Given the description of an element on the screen output the (x, y) to click on. 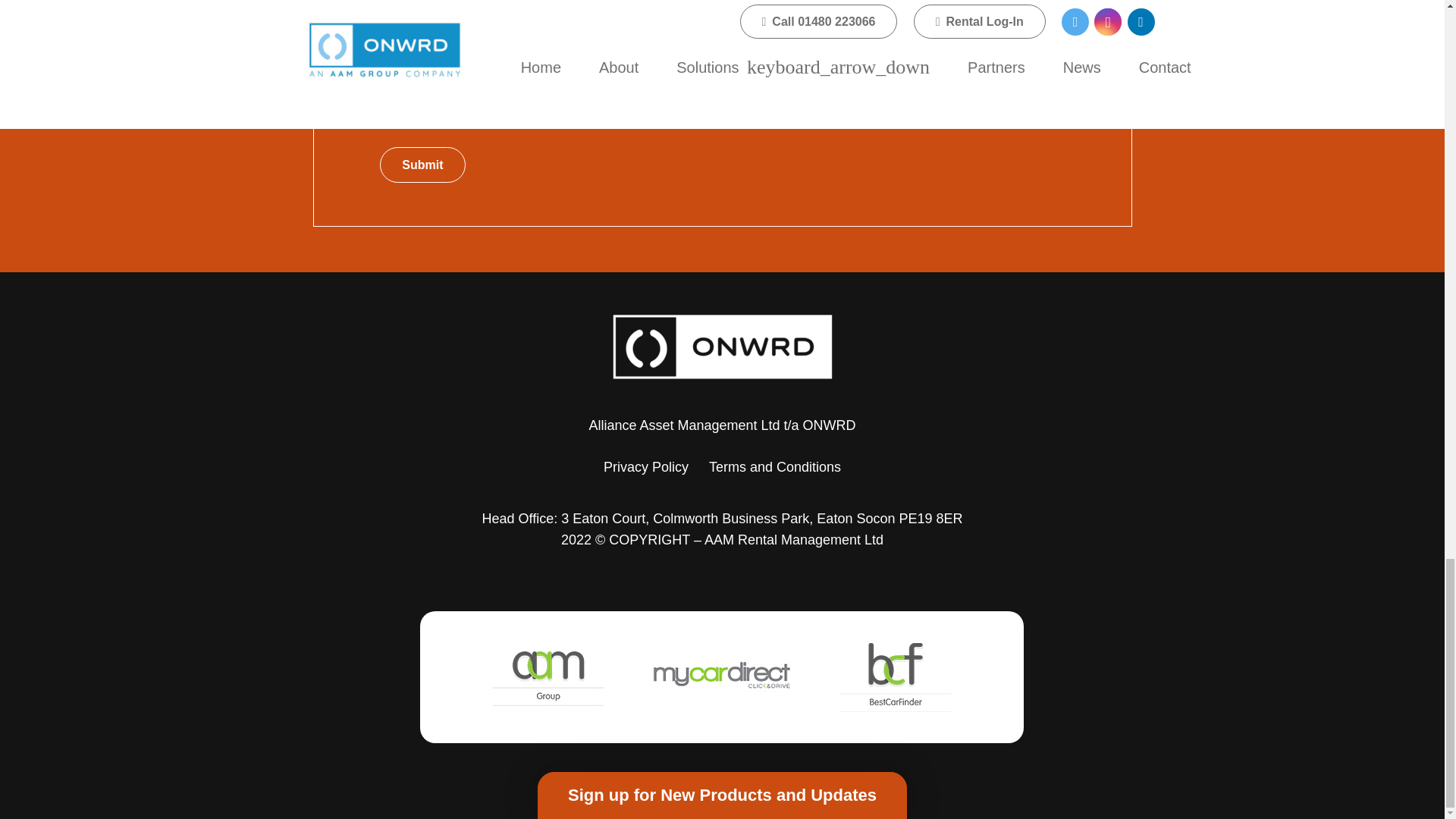
Privacy Policy (646, 467)
Submit (421, 164)
Terms and Conditions (775, 467)
Submit (421, 164)
